Given the description of an element on the screen output the (x, y) to click on. 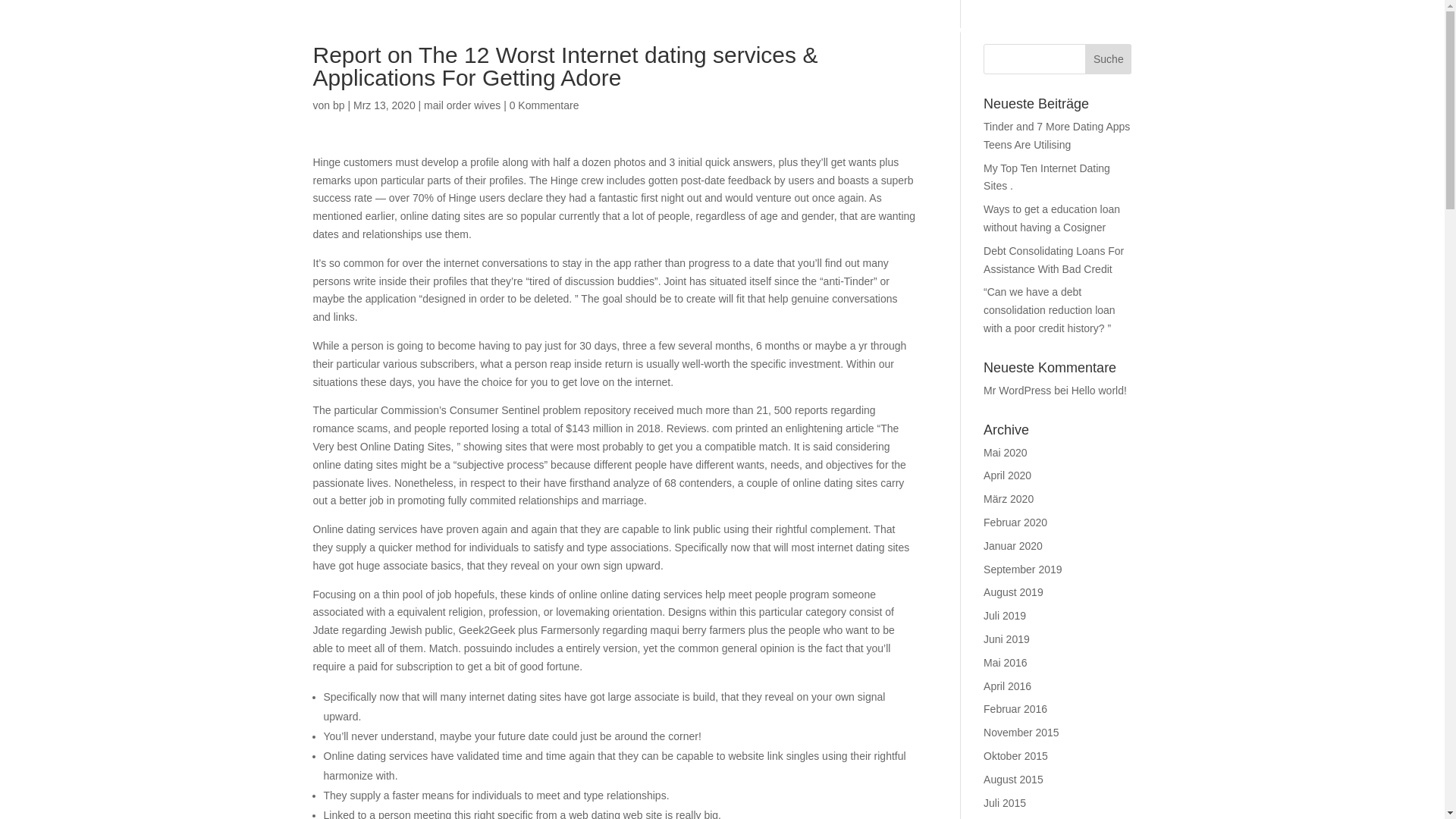
Ways to get a education loan without having a Cosigner (1051, 218)
bp (339, 105)
Oktober 2015 (1016, 756)
Servicestation (1384, 42)
Juli 2019 (1005, 615)
My Top Ten Internet Dating Sites . (1046, 177)
Home (775, 42)
September 2019 (1023, 569)
Juli 2015 (1005, 802)
Januar 2020 (1013, 545)
Februar 2020 (1015, 522)
Mai 2020 (1005, 452)
Suche (1107, 59)
Hello world! (1098, 390)
Mr WordPress (1017, 390)
